Given the description of an element on the screen output the (x, y) to click on. 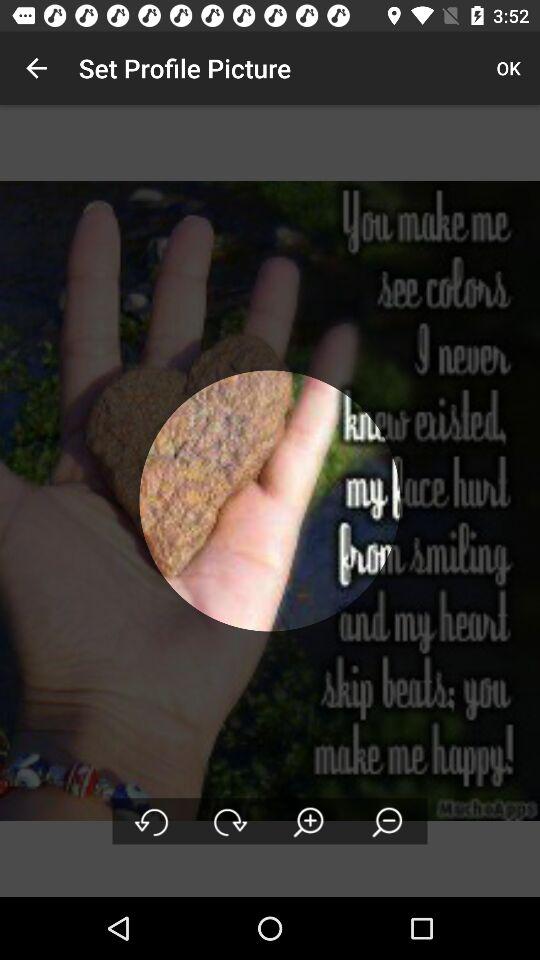
open the app to the right of set profile picture (508, 67)
